Given the description of an element on the screen output the (x, y) to click on. 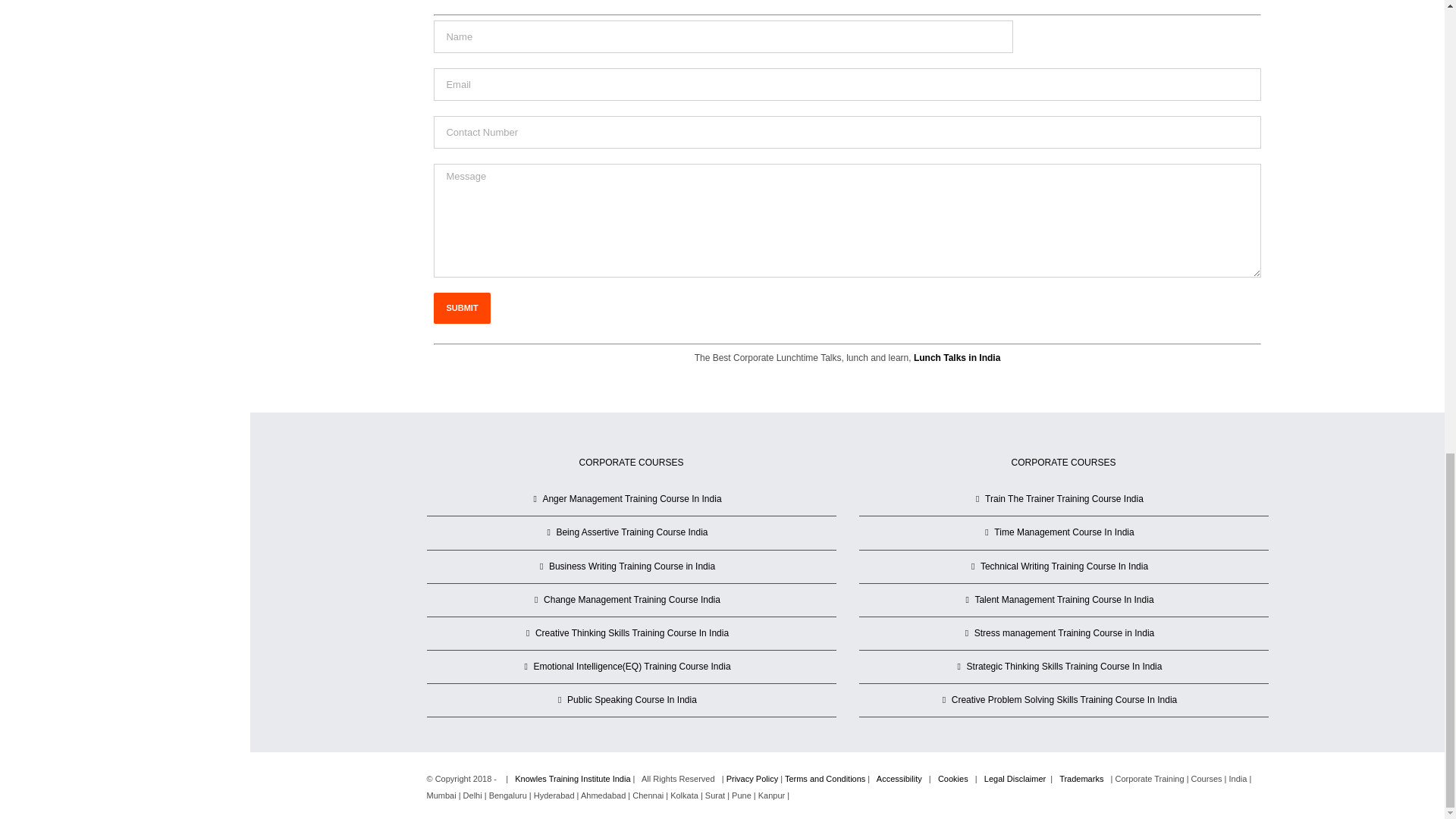
Talent Management Training Course In India (1063, 600)
Business Writing Training Course in India (631, 566)
Being Assertive Training Course India (631, 532)
Lunch Talks in India (957, 357)
Creative Thinking Skills Training Course In India (631, 633)
Time Management Course In India (1063, 532)
Public Speaking Course In India (631, 700)
Technical Writing Training Course In India (1063, 566)
submit (461, 307)
Change Management Training Course India (631, 600)
submit (461, 307)
Train The Trainer Training Course India (1063, 498)
Anger Management Training Course In India (631, 498)
